Given the description of an element on the screen output the (x, y) to click on. 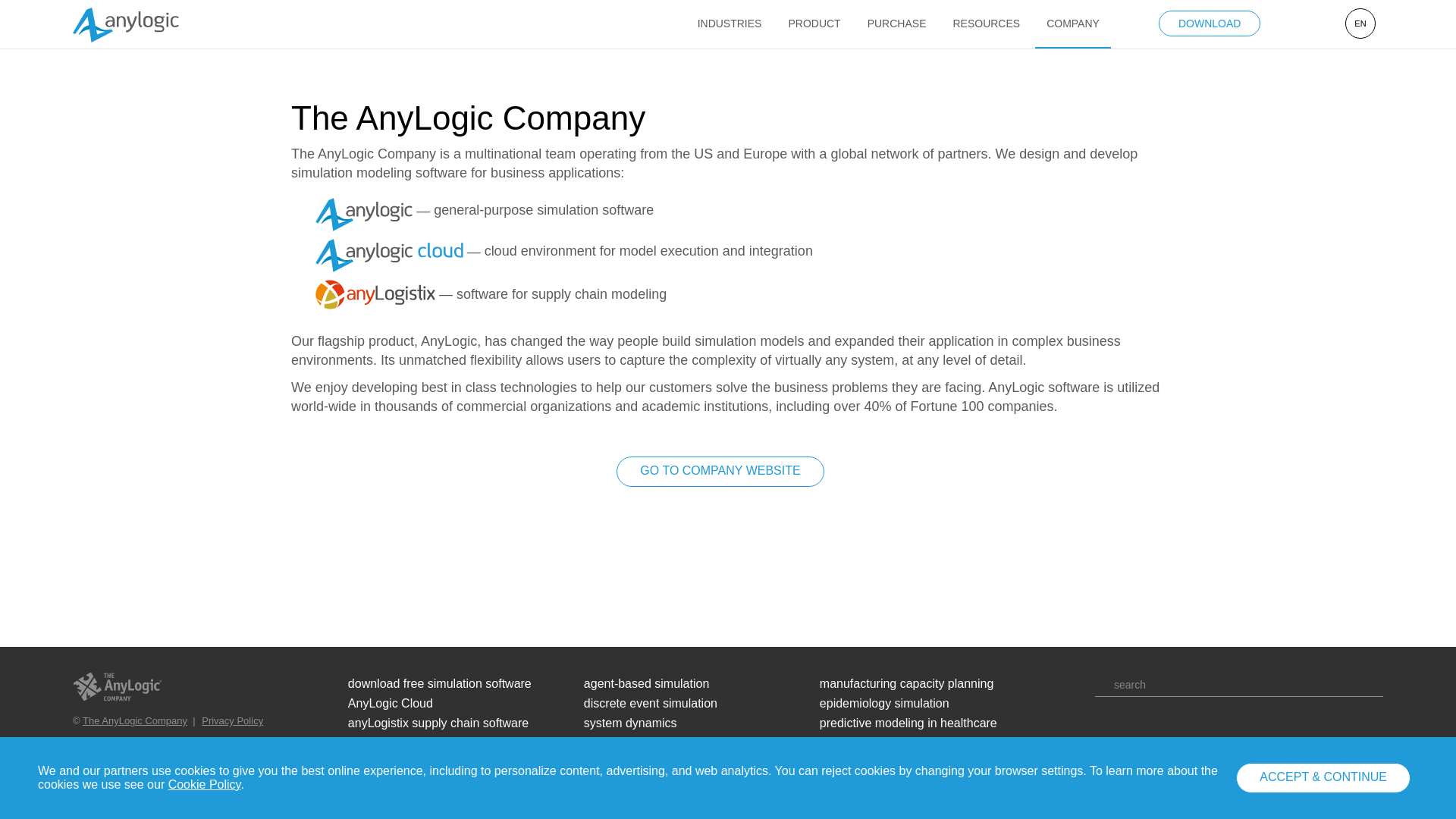
AnyLogic (363, 214)
AnyLogic Cloud (389, 255)
youtube (1200, 735)
Cookie Policy (204, 784)
linkedin (1148, 735)
facebook (1101, 735)
Supply Chains (1101, 685)
close (1437, 777)
anyLogistix (375, 294)
youtube (1225, 735)
